Given the description of an element on the screen output the (x, y) to click on. 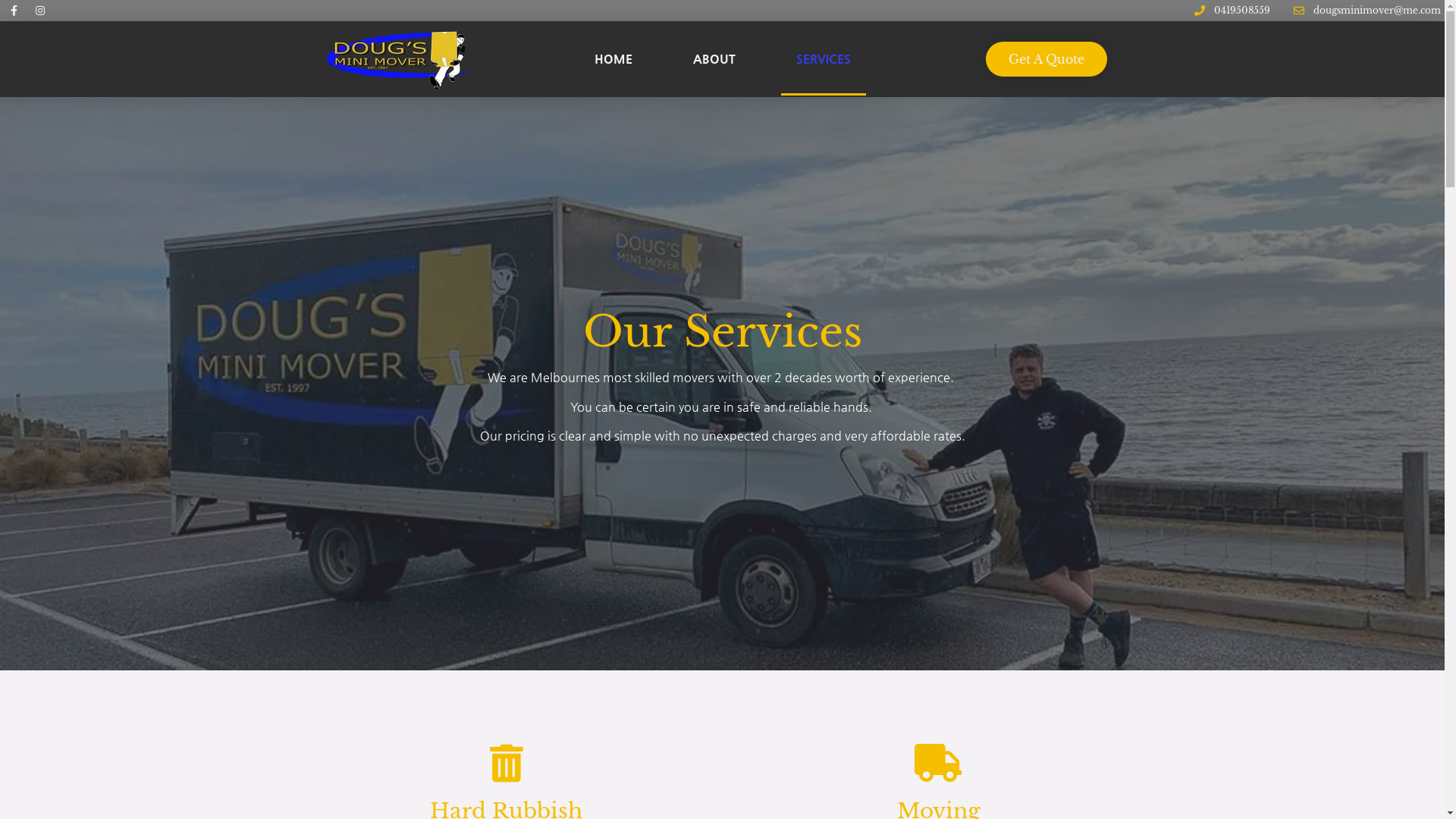
0419508559 Element type: text (1230, 10)
dougsminimover@me.com Element type: text (1365, 10)
SERVICES Element type: text (823, 58)
ABOUT Element type: text (713, 58)
Get A Quote Element type: text (1046, 58)
HOME Element type: text (613, 58)
